Given the description of an element on the screen output the (x, y) to click on. 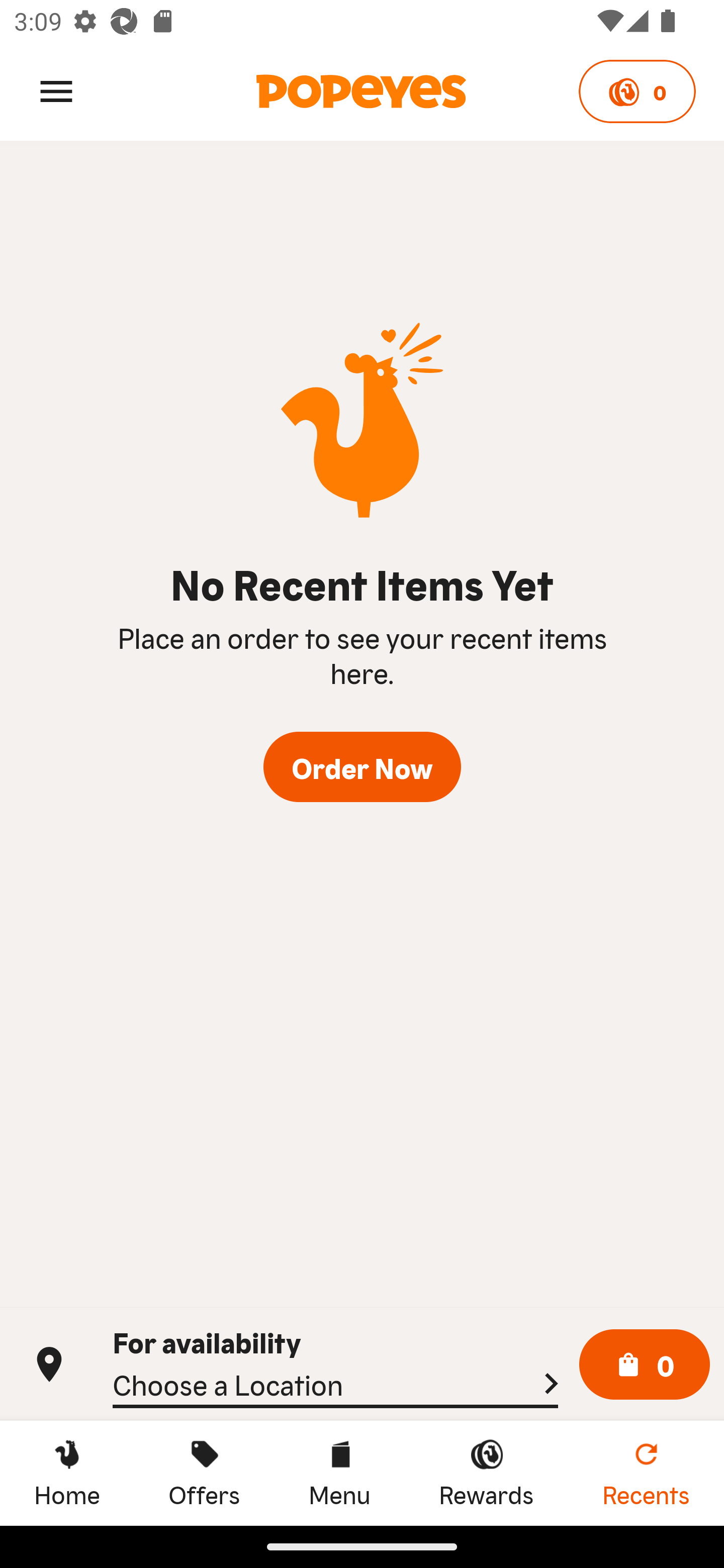
Menu  (56, 90)
0 Points 0 (636, 91)
Order Now (362, 767)
0 Cart total  0 (644, 1364)
Home Home Home (66, 1472)
Offers Offers Offers (203, 1472)
Menu Menu Menu (339, 1472)
Rewards Rewards Rewards (486, 1472)
